Given the description of an element on the screen output the (x, y) to click on. 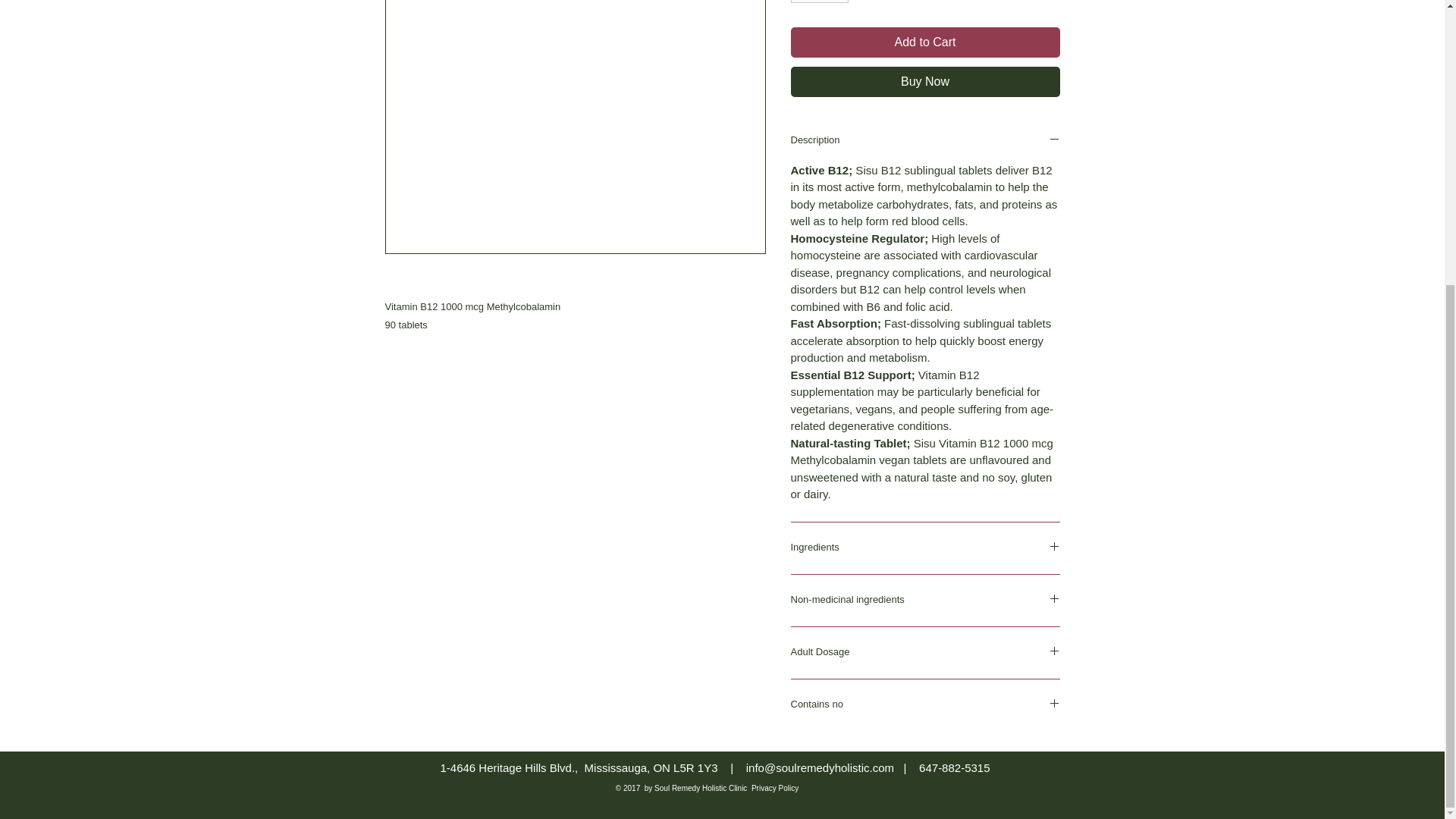
Ingredients (924, 548)
1 (818, 2)
Non-medicinal ingredients (924, 600)
Description (924, 140)
Adult Dosage (924, 652)
Buy Now (924, 81)
Contains no (924, 704)
Privacy Policy (774, 357)
Add to Cart (924, 42)
